Given the description of an element on the screen output the (x, y) to click on. 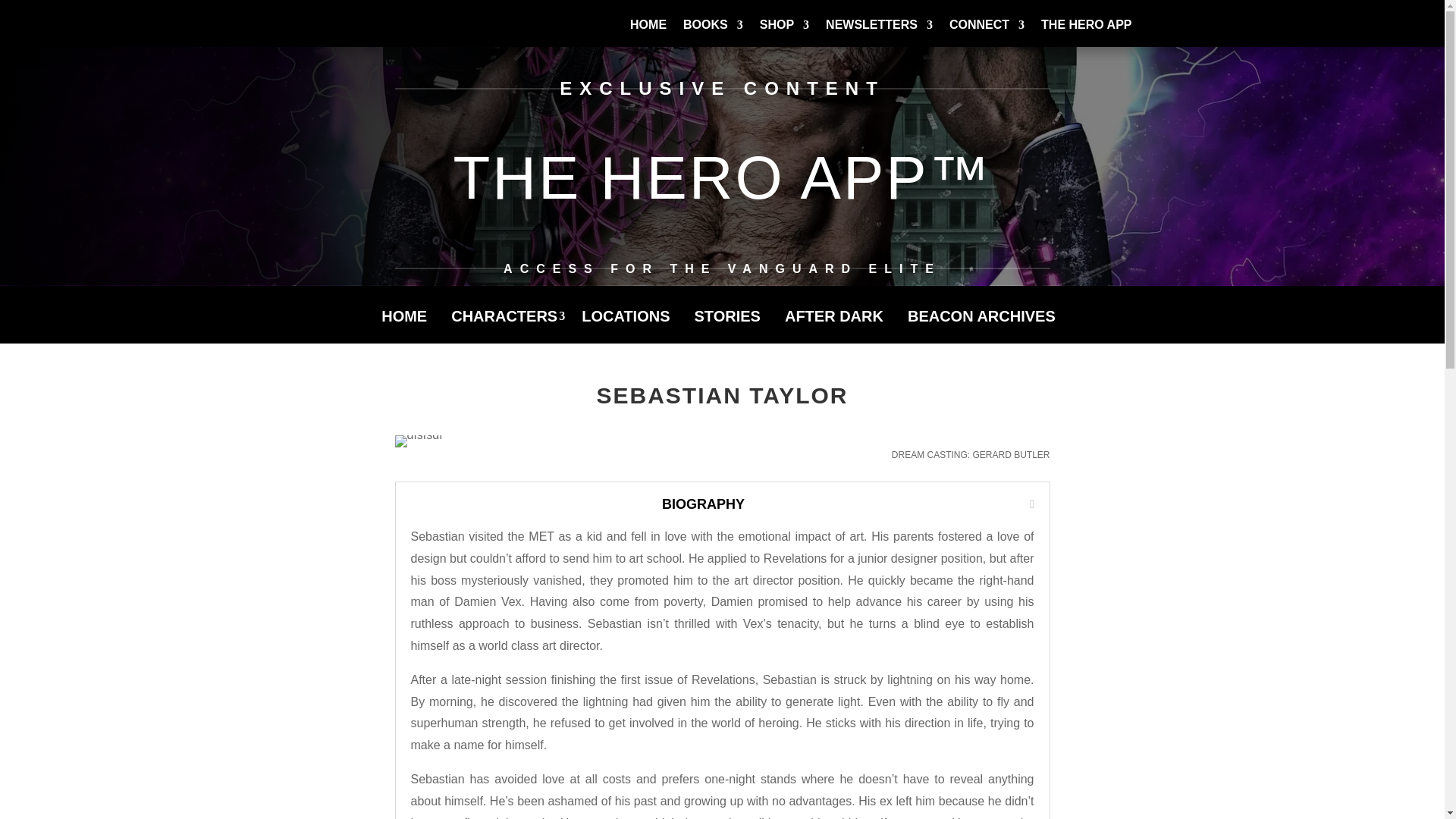
LOCATIONS (628, 327)
SHOP (784, 35)
CONNECT (987, 35)
HOME (648, 35)
THE HERO APP (1086, 35)
CHARACTERS (507, 327)
BOOKS (712, 35)
STORIES (731, 327)
BEACON ARCHIVES (984, 327)
AFTER DARK (837, 327)
